Given the description of an element on the screen output the (x, y) to click on. 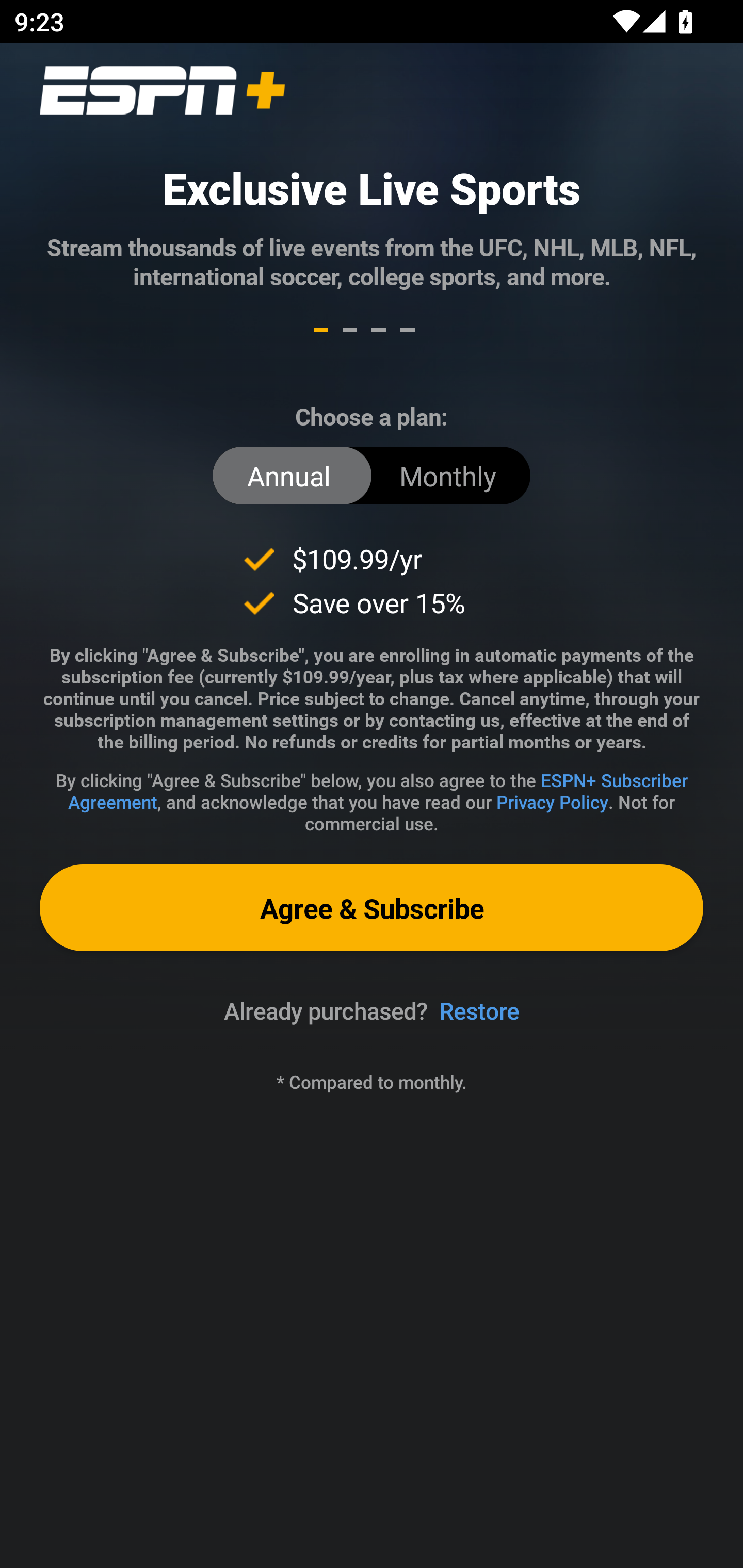
Agree & Subscribe (371, 907)
